Given the description of an element on the screen output the (x, y) to click on. 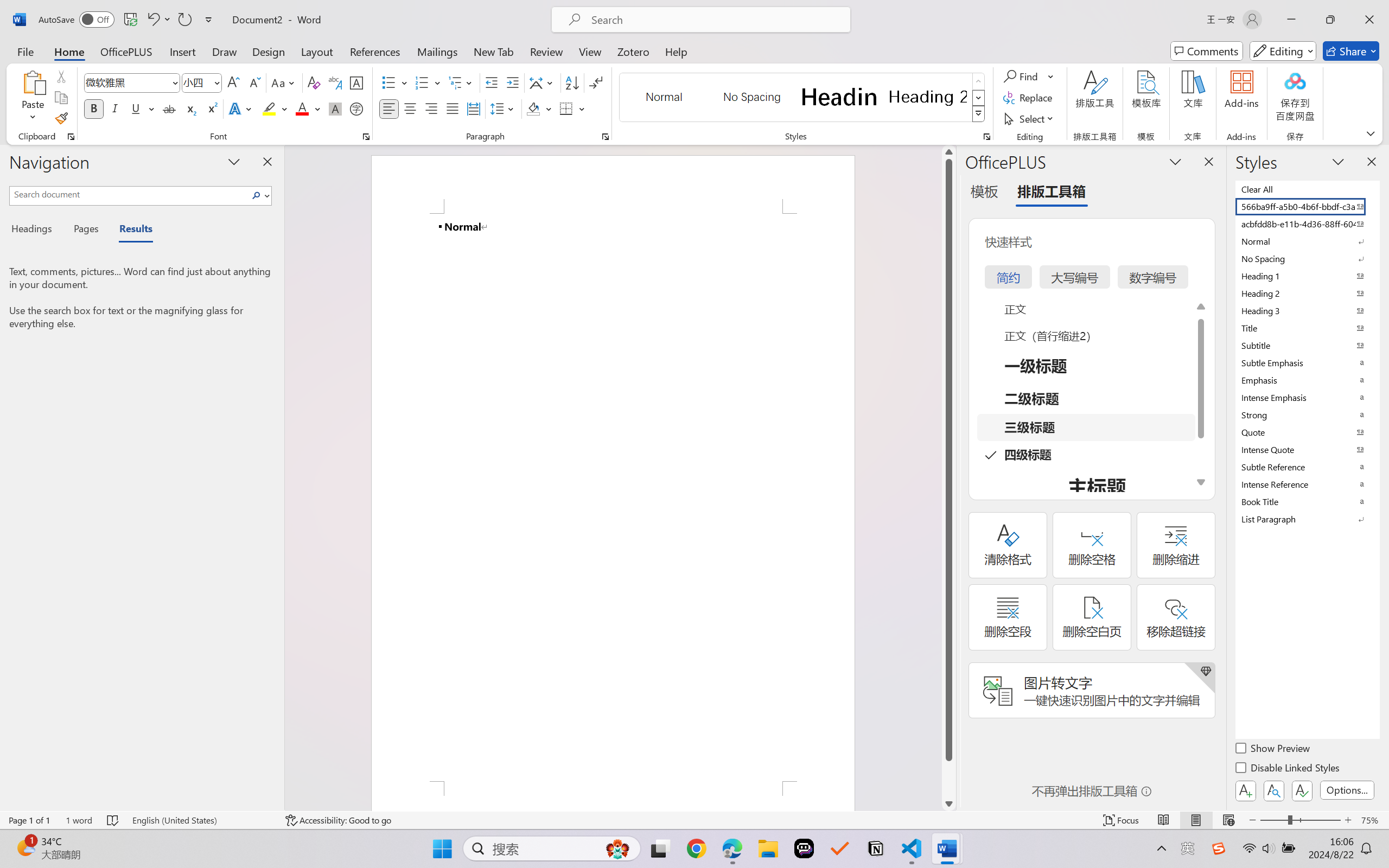
Format Painter (60, 118)
Page Number Page 1 of 1 (29, 819)
Accessibility Checker Accessibility: Good to go (338, 819)
Focus  (1121, 819)
Find (1022, 75)
No Spacing (1306, 258)
Text Highlight Color (274, 108)
Quick Access Toolbar (127, 19)
Paste (33, 81)
Heading 3 (1306, 310)
Save (130, 19)
Borders (566, 108)
Home (69, 51)
